Given the description of an element on the screen output the (x, y) to click on. 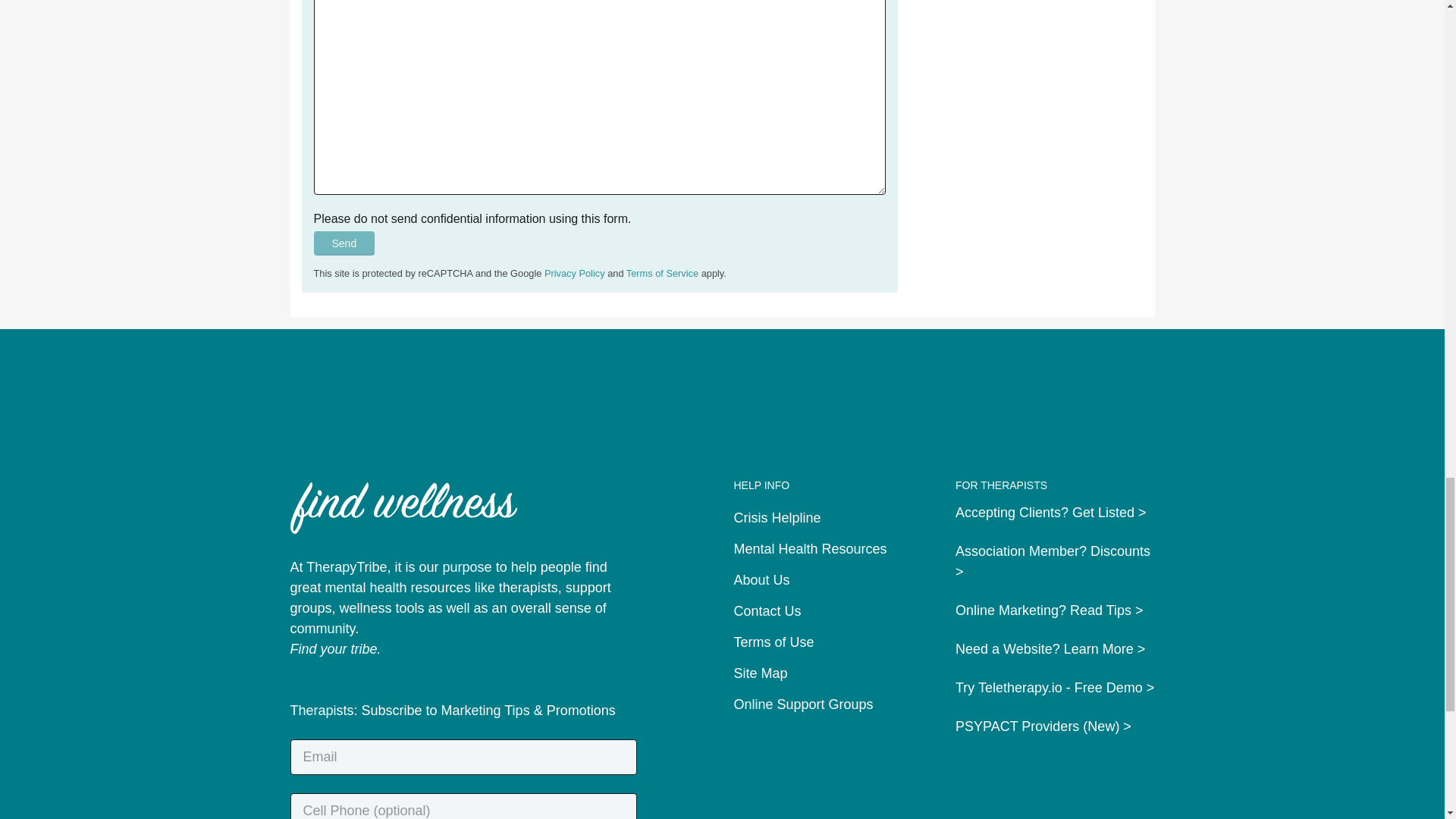
Send (344, 242)
